Given the description of an element on the screen output the (x, y) to click on. 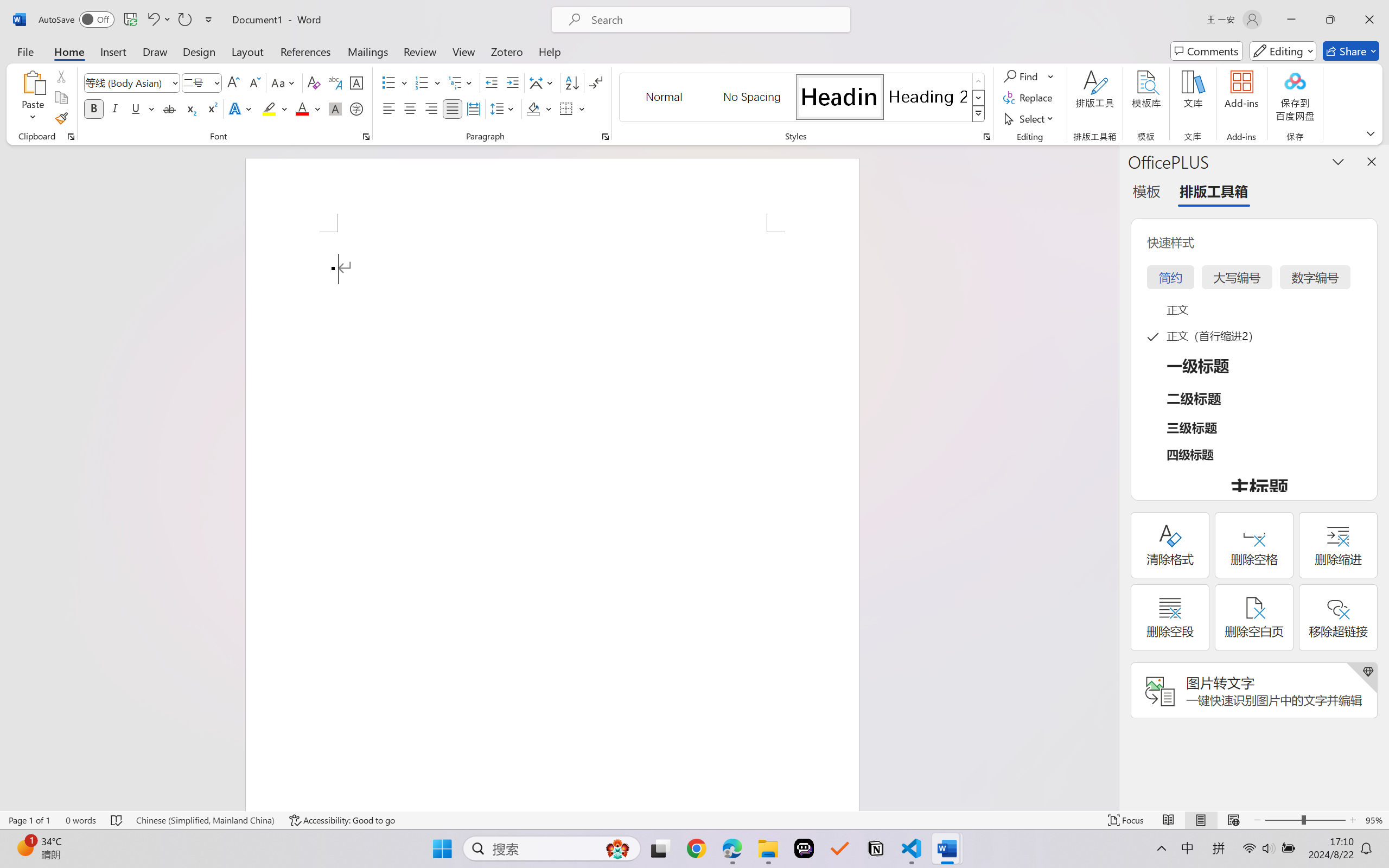
Microsoft search (715, 19)
Page 1 content (552, 521)
